Given the description of an element on the screen output the (x, y) to click on. 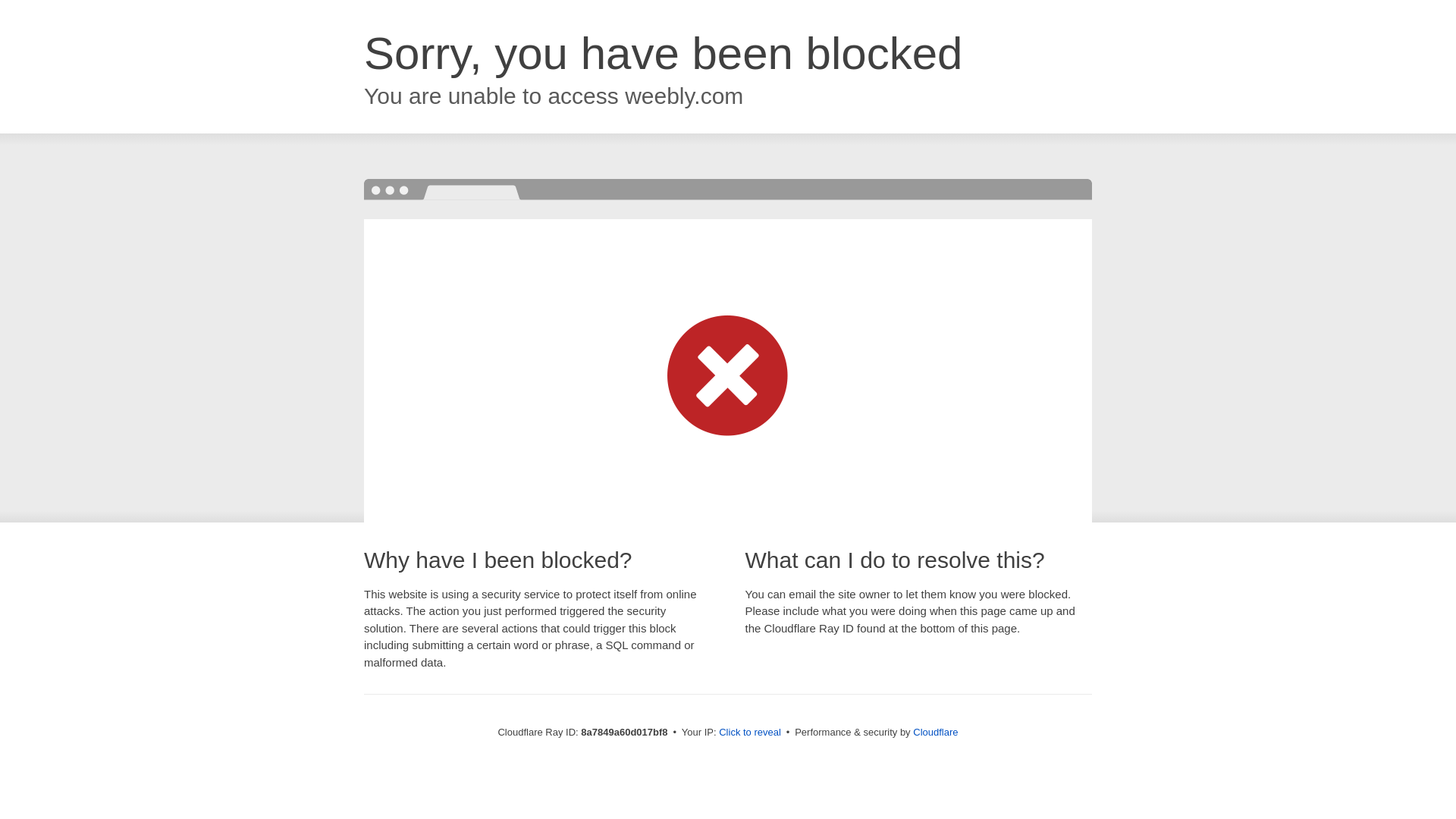
Click to reveal (749, 732)
Cloudflare (935, 731)
